Given the description of an element on the screen output the (x, y) to click on. 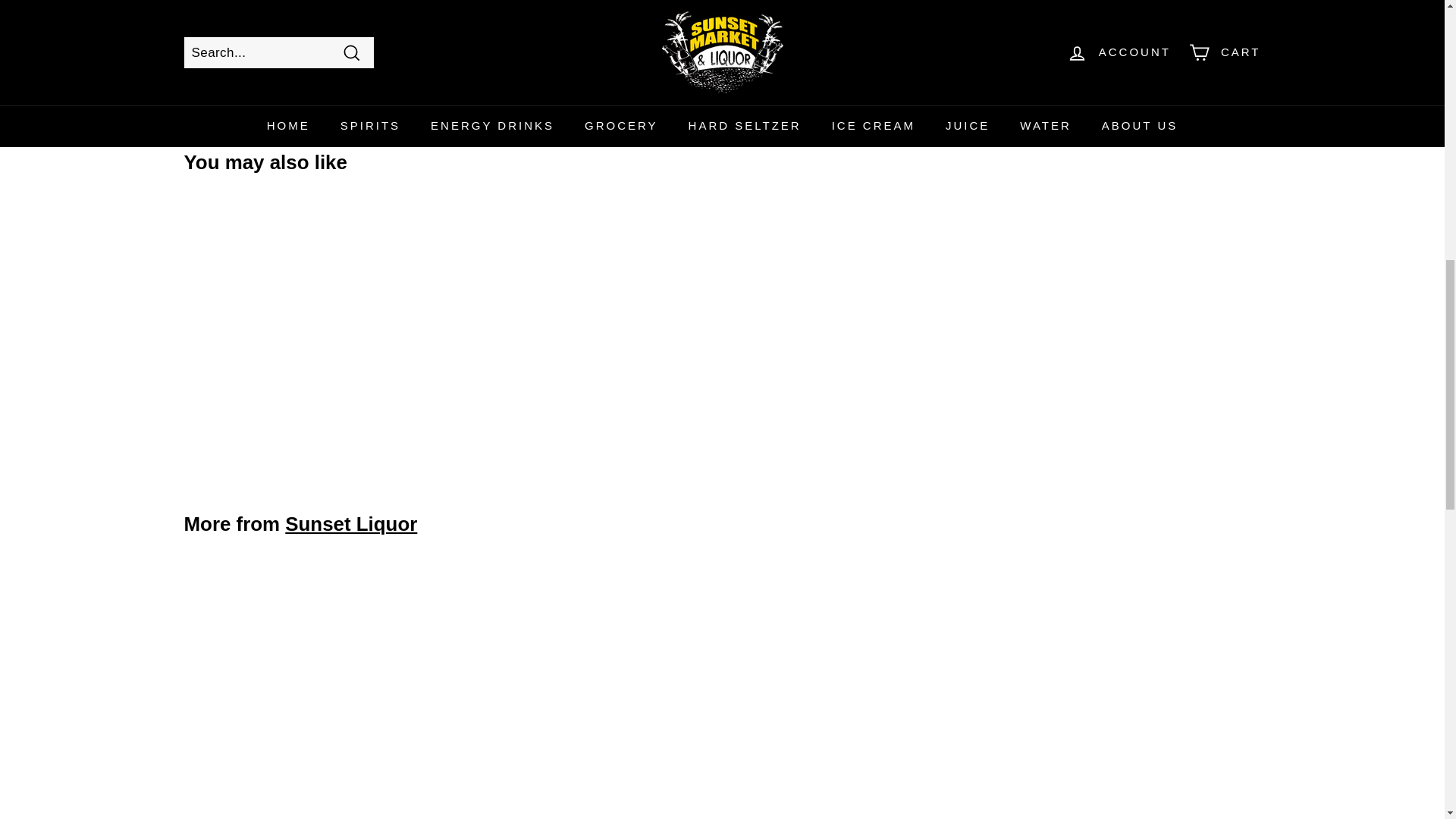
Sunset Liquor  (350, 523)
